Given the description of an element on the screen output the (x, y) to click on. 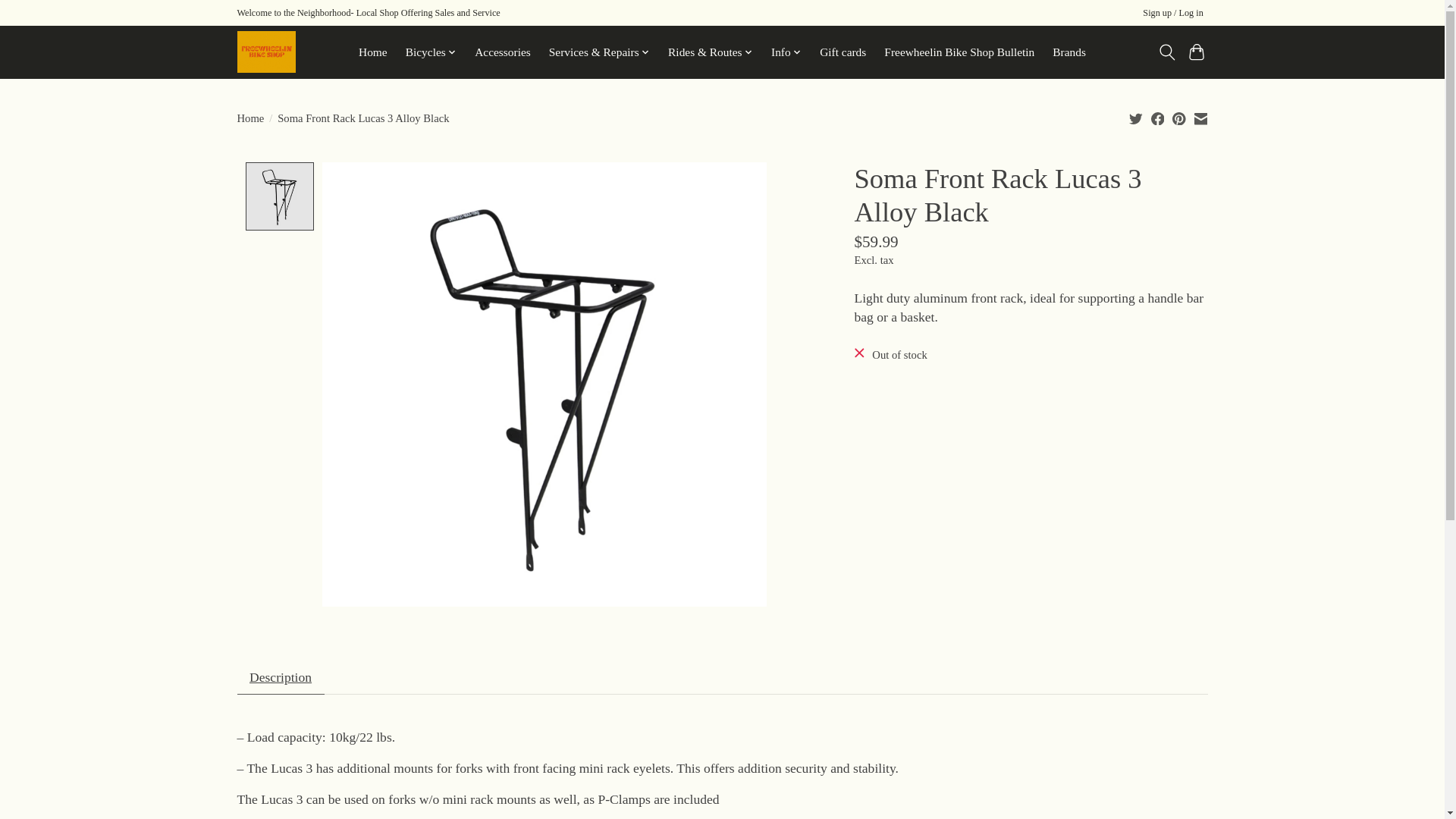
Freewheelin' Bike Shop (265, 51)
Share on Twitter (1135, 118)
Info (786, 52)
My account (1173, 13)
Share on Pinterest (1178, 118)
Home (373, 52)
Bicycles (431, 52)
Gift cards (842, 52)
Accessories (501, 52)
Share by Email (1200, 118)
